Given the description of an element on the screen output the (x, y) to click on. 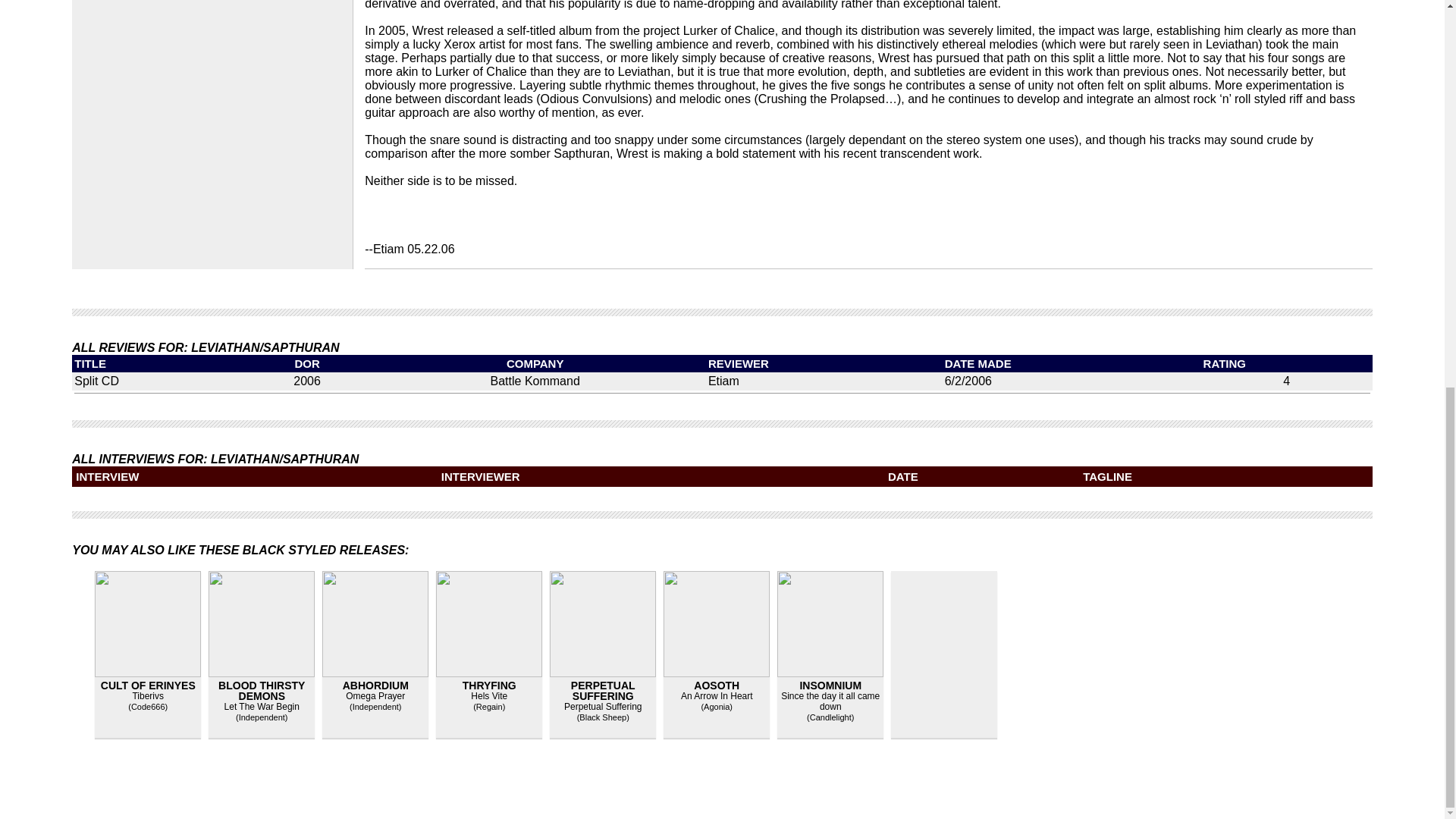
INSOMNIUM (830, 685)
Let The War Begin (261, 706)
CULT OF ERINYES (147, 685)
Split CD (96, 380)
BLOOD THIRSTY DEMONS (261, 690)
Omega Prayer (375, 696)
THRYFING (489, 685)
AOSOTH (716, 685)
ABHORDIUM (375, 685)
PERPETUAL SUFFERING (602, 690)
